Given the description of an element on the screen output the (x, y) to click on. 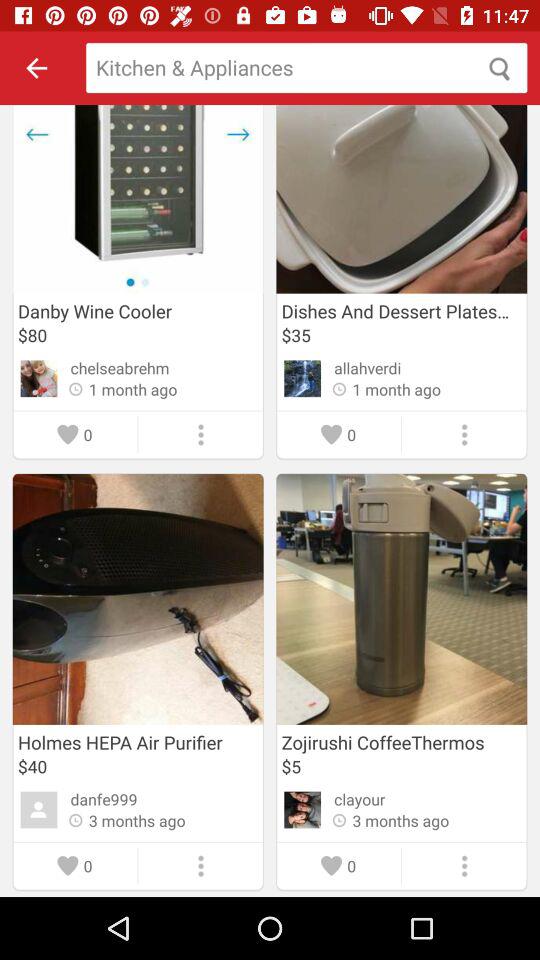
turn off the allahverdi item (367, 367)
